Given the description of an element on the screen output the (x, y) to click on. 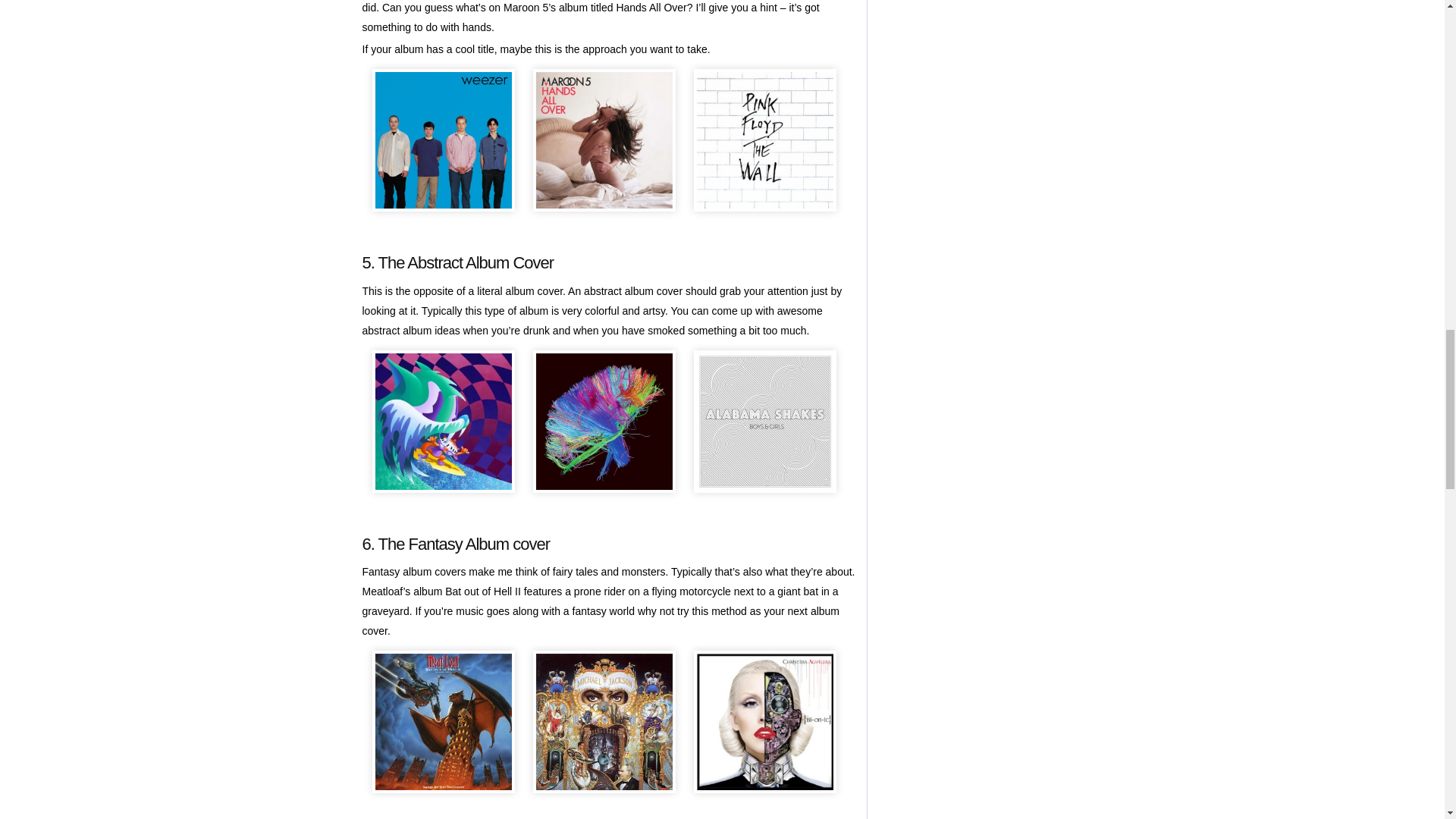
Pink Floyd (764, 139)
Muse (603, 421)
Alabama Shakes (764, 421)
Weezer (442, 139)
Maroon 5 (603, 139)
MGMT (442, 421)
